Given the description of an element on the screen output the (x, y) to click on. 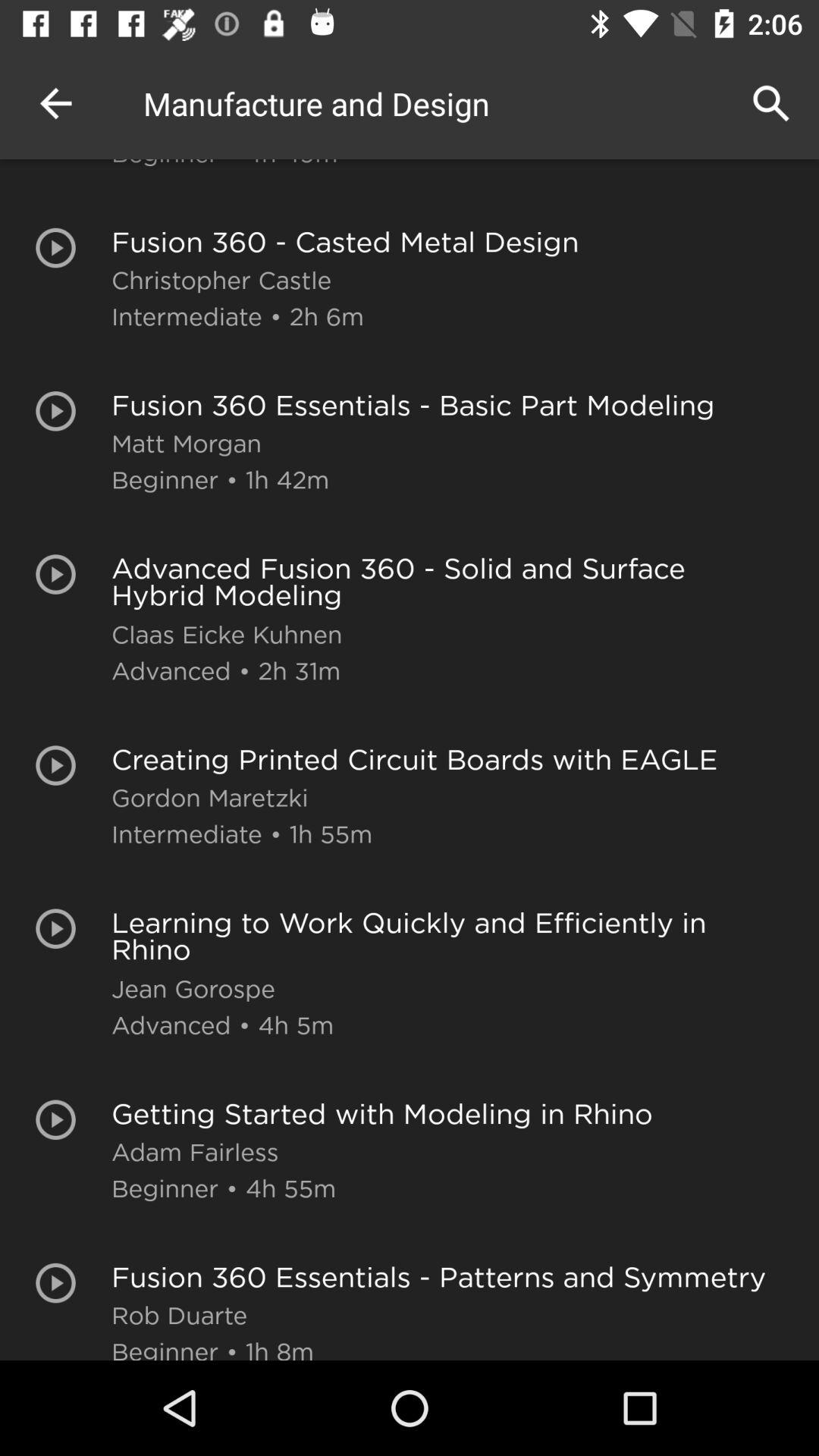
launch the icon next to manufacture and design item (55, 103)
